Given the description of an element on the screen output the (x, y) to click on. 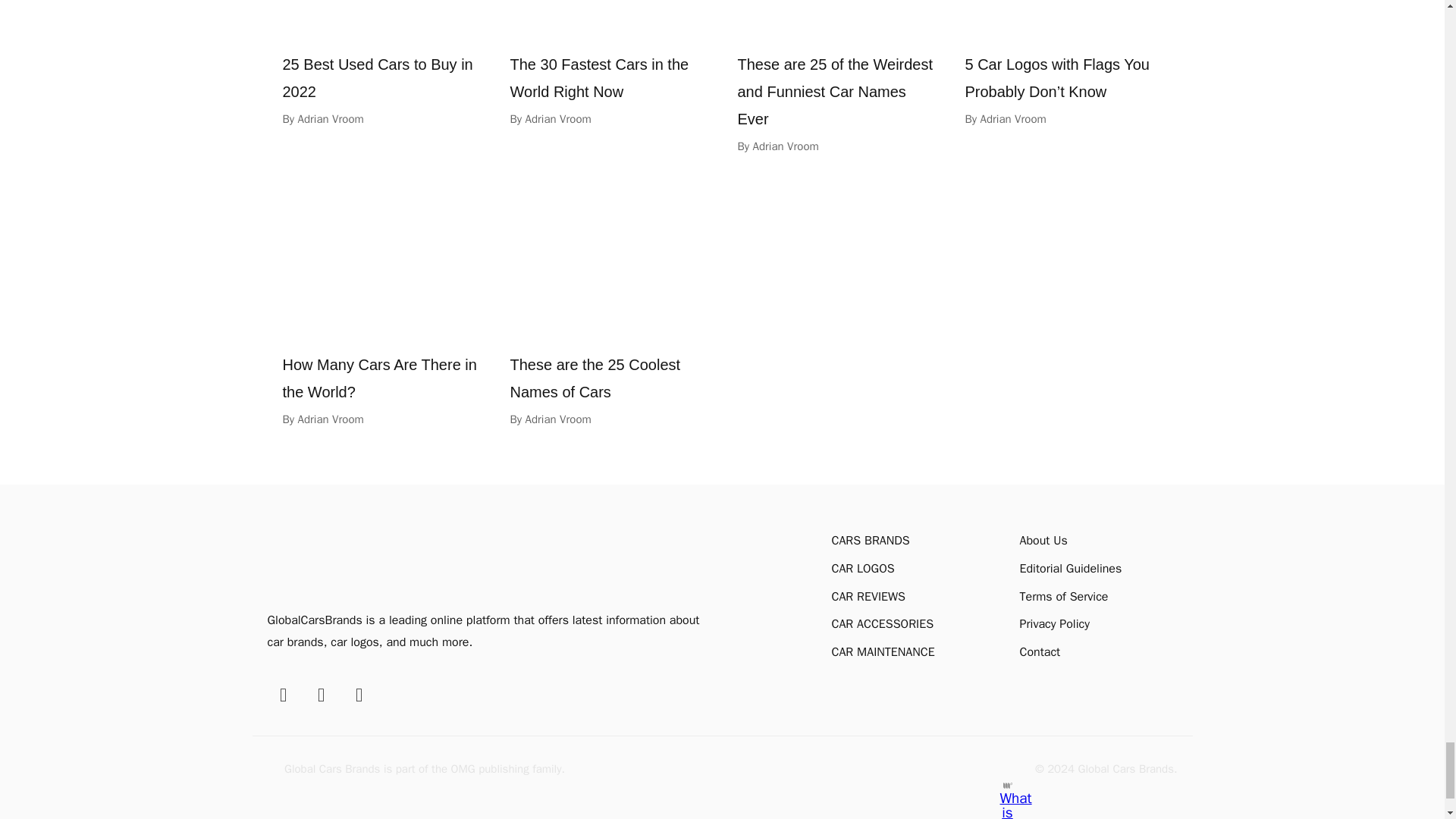
Instagram (319, 694)
Facebook (282, 694)
YouTube (358, 694)
